Given the description of an element on the screen output the (x, y) to click on. 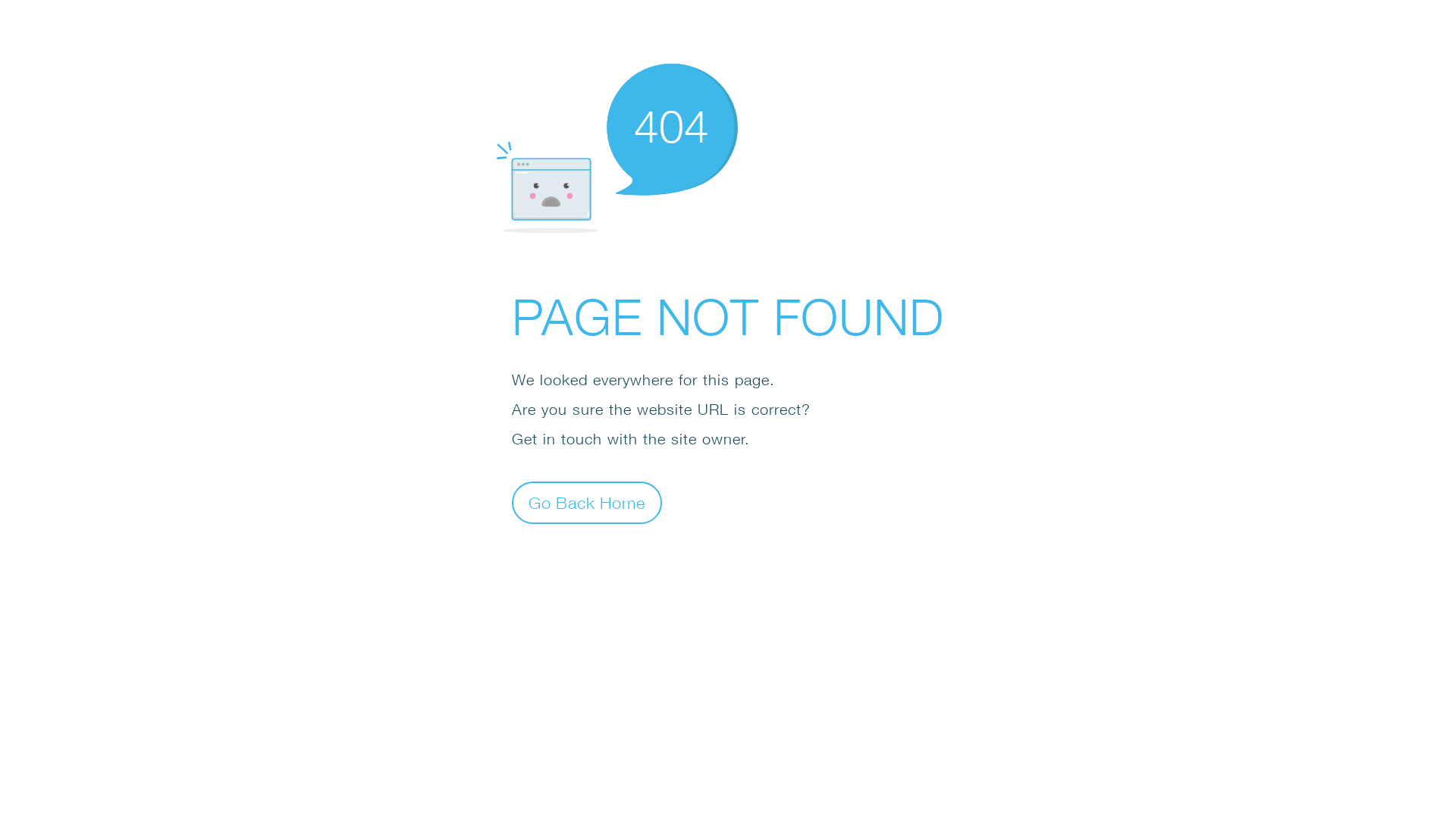
Go Back Home Element type: text (586, 502)
